Given the description of an element on the screen output the (x, y) to click on. 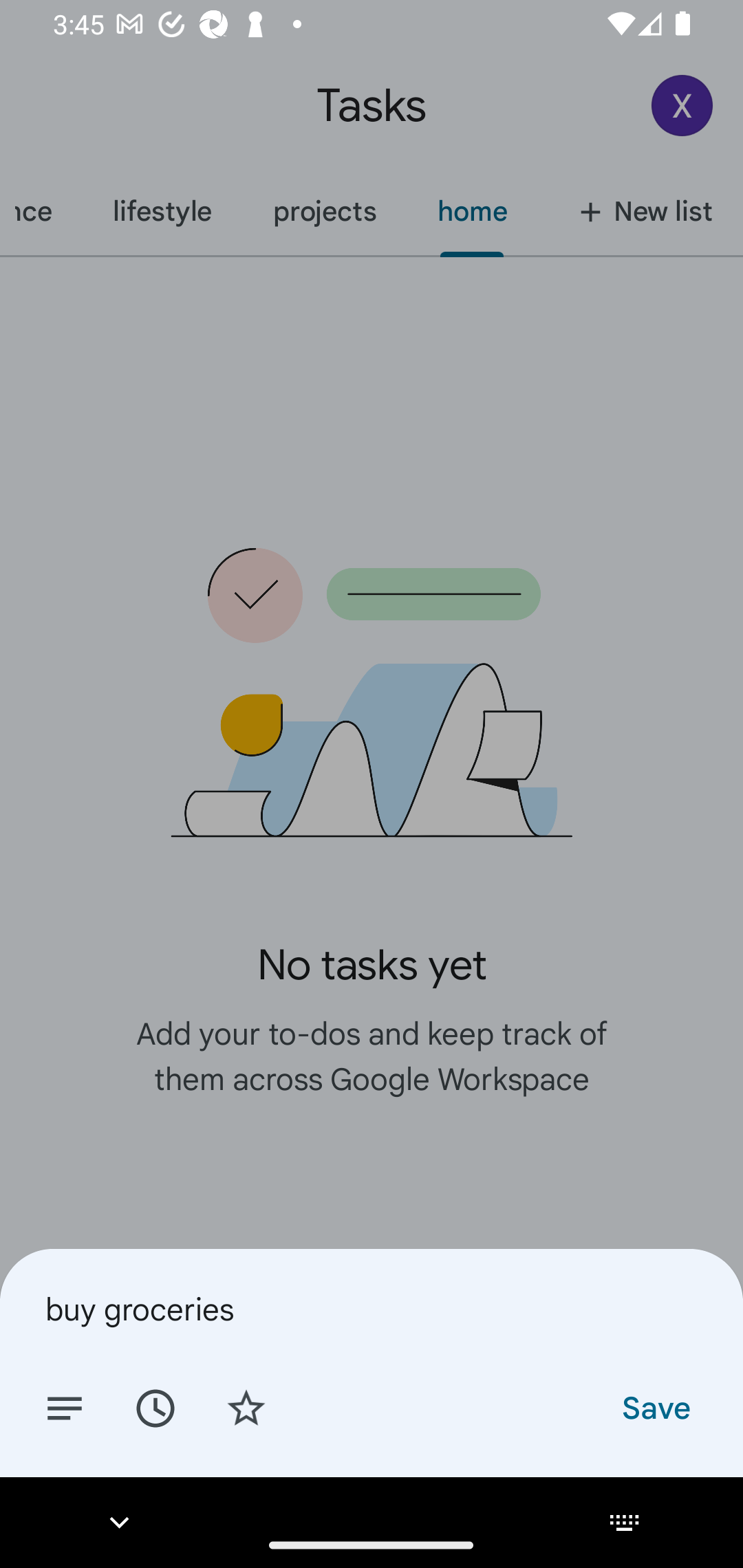
buy groceries (371, 1308)
Save (655, 1407)
Add details (64, 1407)
Set date/time (154, 1407)
Add star (245, 1407)
